Given the description of an element on the screen output the (x, y) to click on. 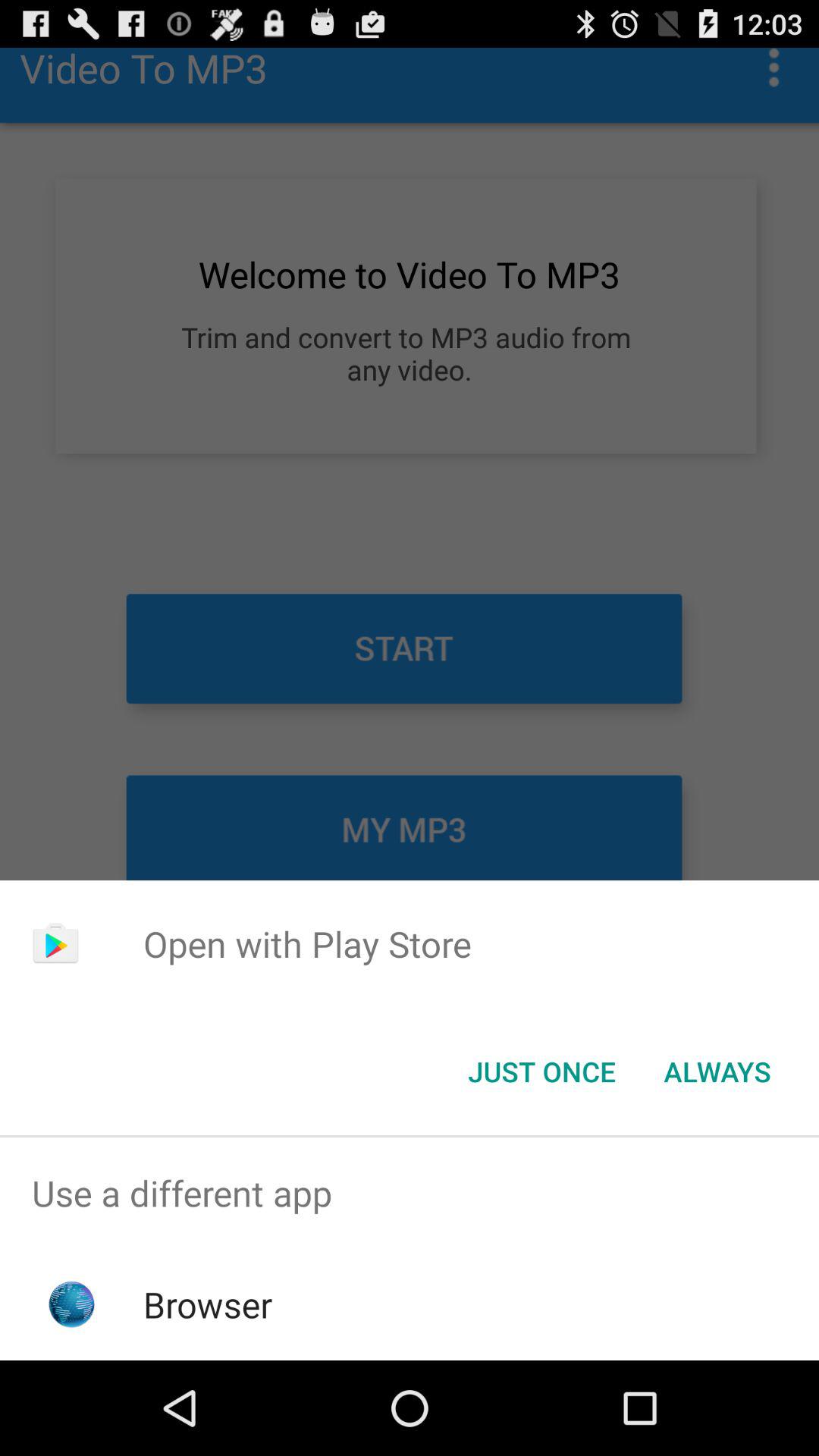
turn off always item (717, 1071)
